Given the description of an element on the screen output the (x, y) to click on. 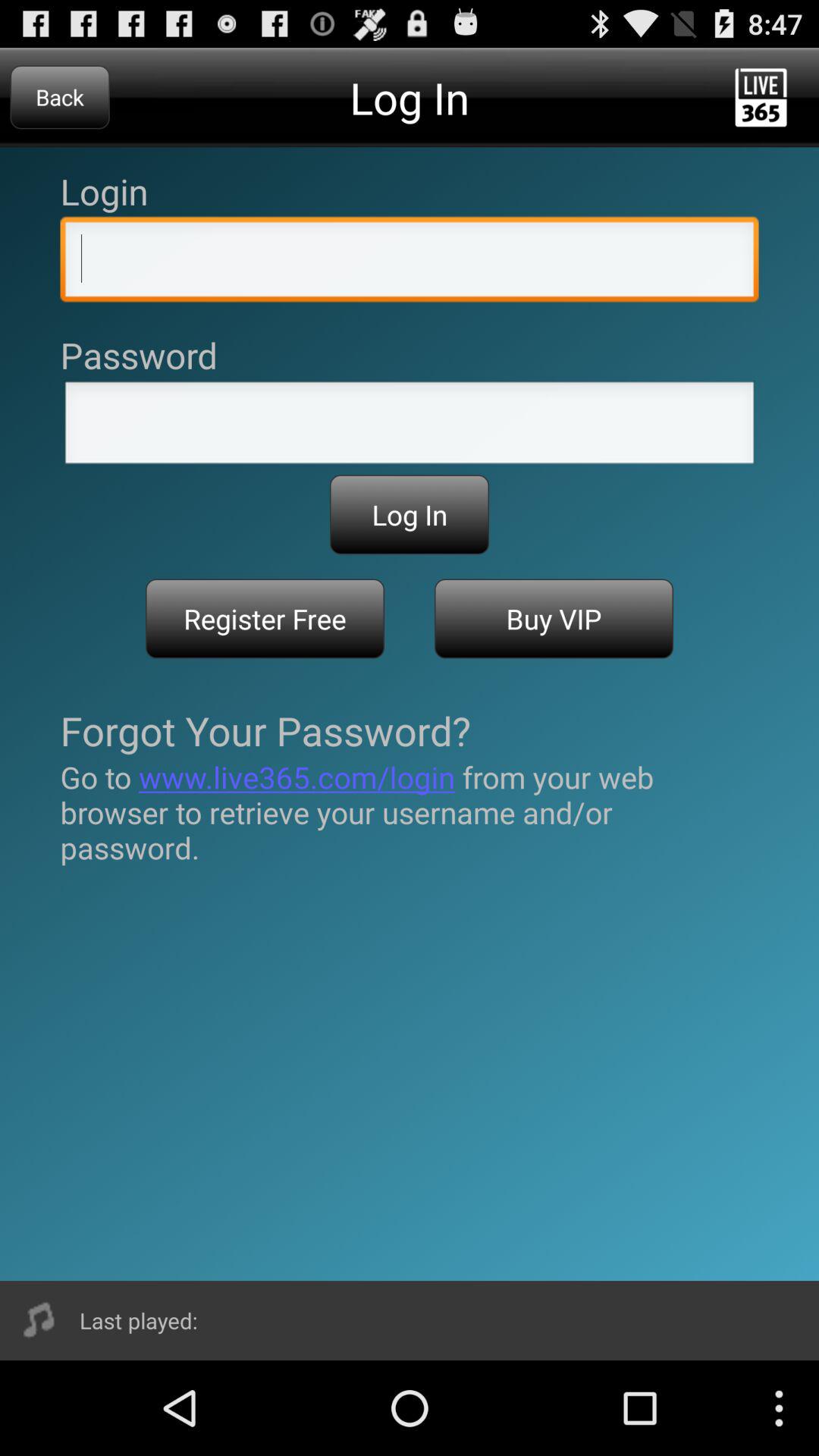
click buy vip item (553, 618)
